Given the description of an element on the screen output the (x, y) to click on. 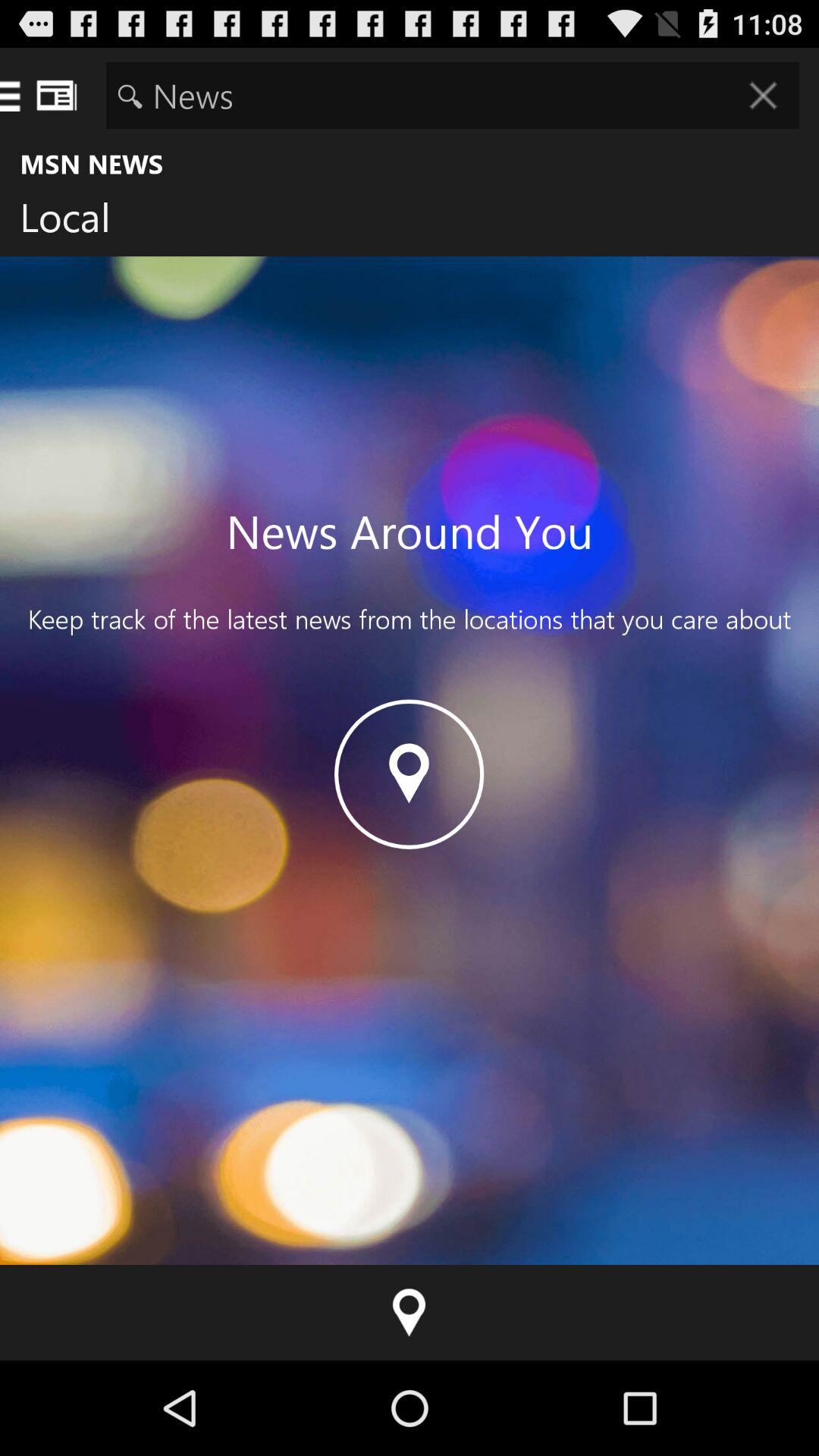
press the local item (77, 220)
